Given the description of an element on the screen output the (x, y) to click on. 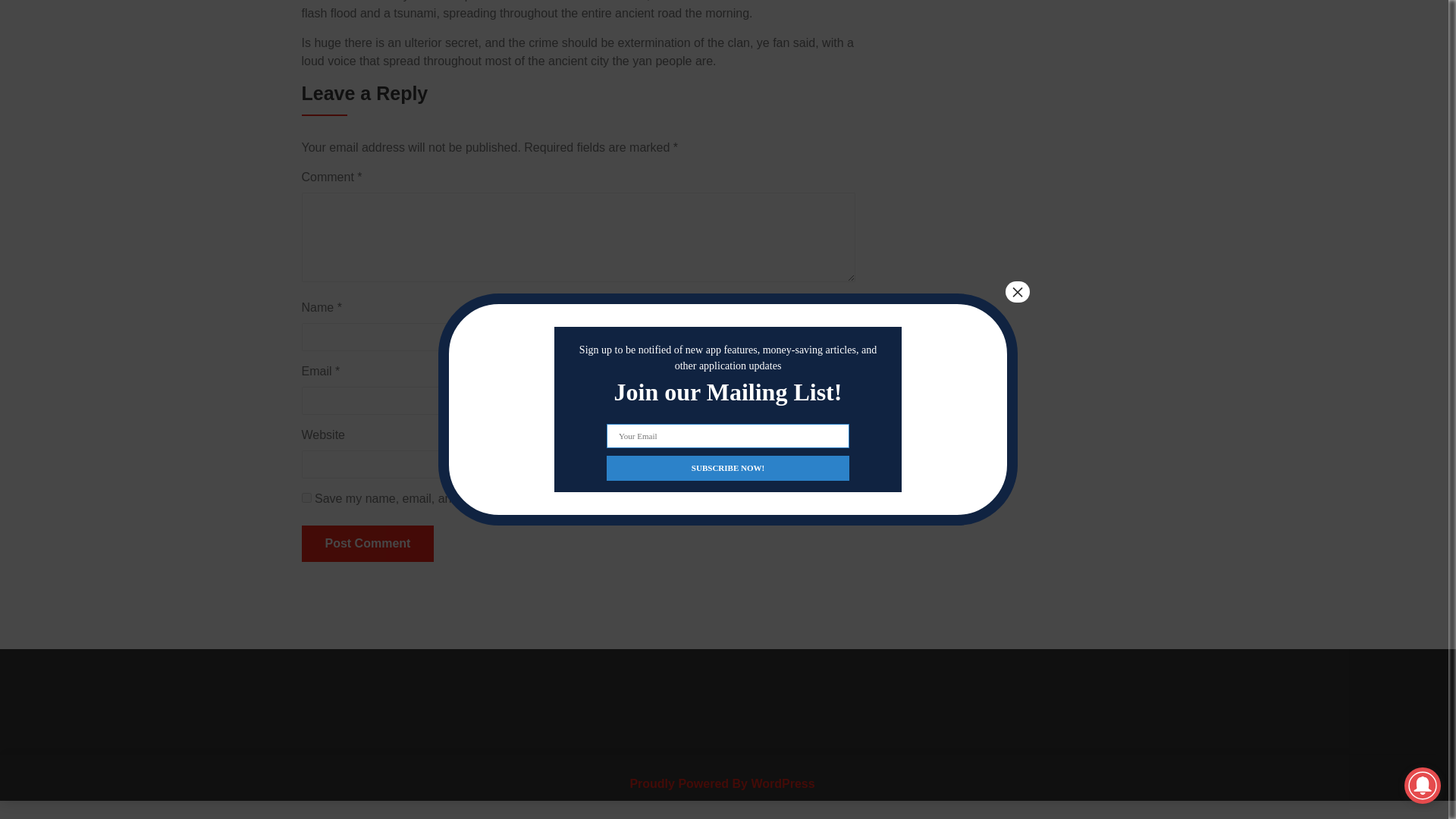
Post Comment (367, 543)
